Given the description of an element on the screen output the (x, y) to click on. 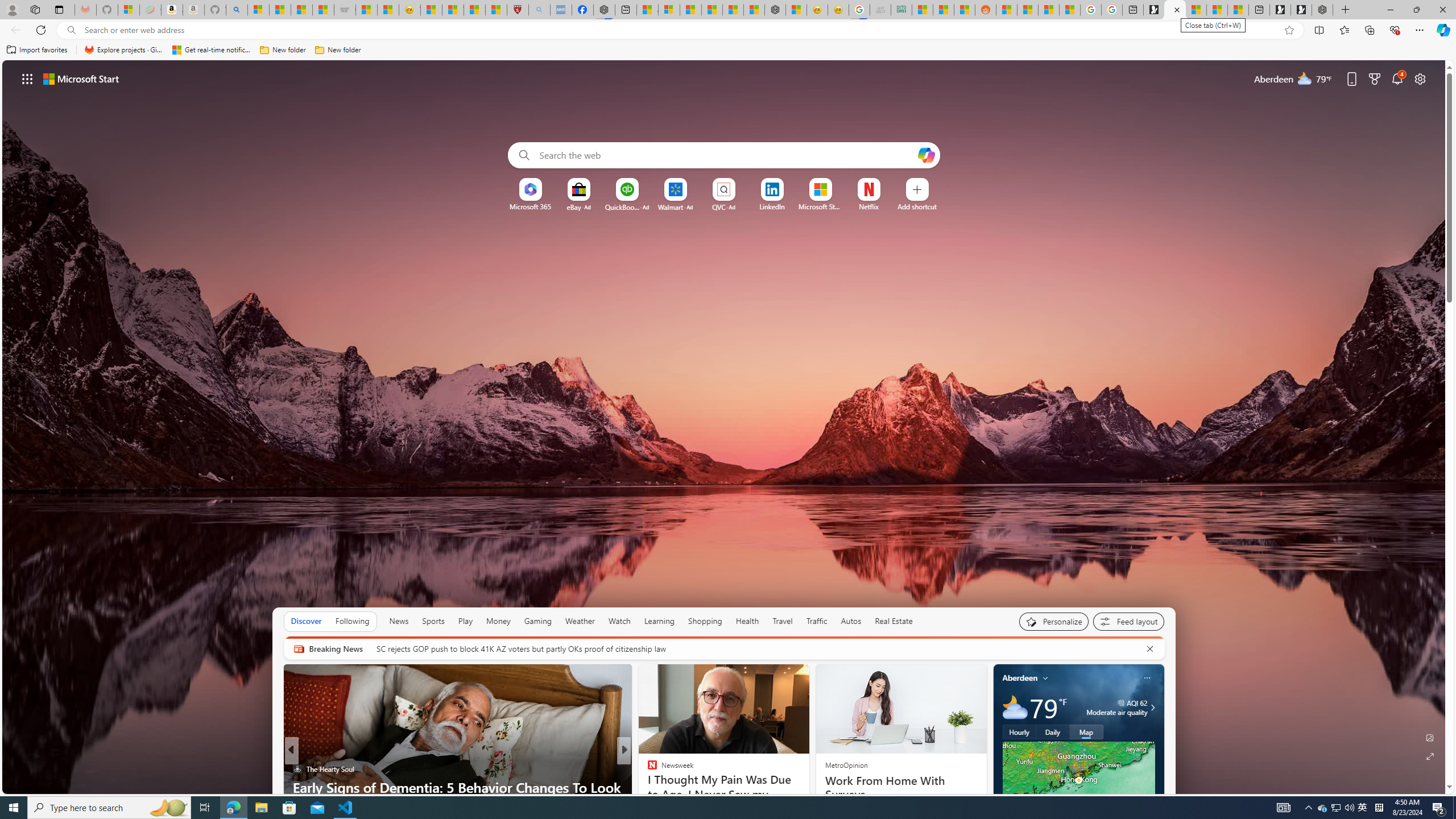
Netflix (869, 206)
AutomationID: backgroundImagePicture (723, 426)
Mostly cloudy (1014, 707)
